Given the description of an element on the screen output the (x, y) to click on. 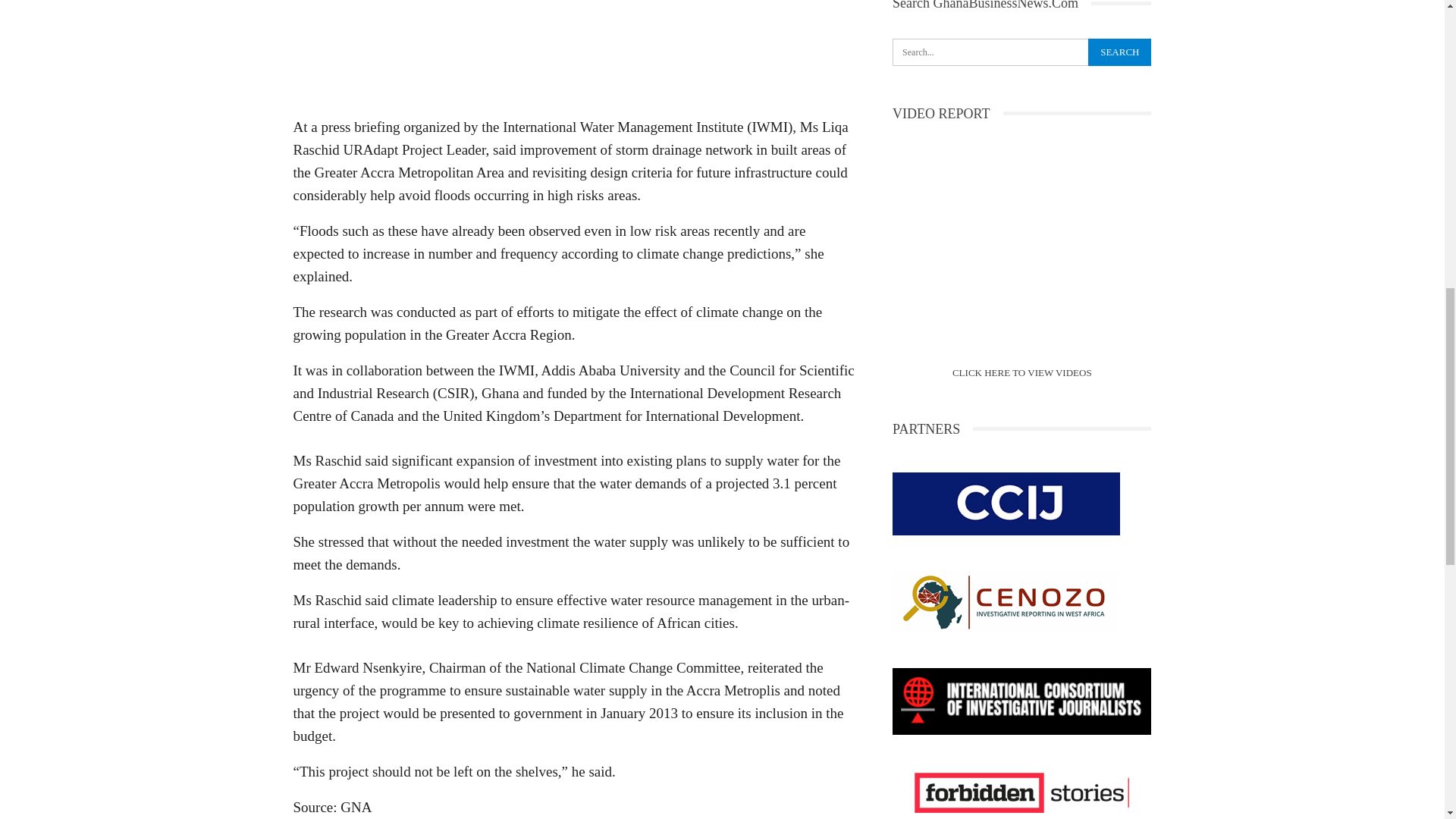
Advertisement (574, 53)
Search (1119, 52)
Search (1119, 52)
